Given the description of an element on the screen output the (x, y) to click on. 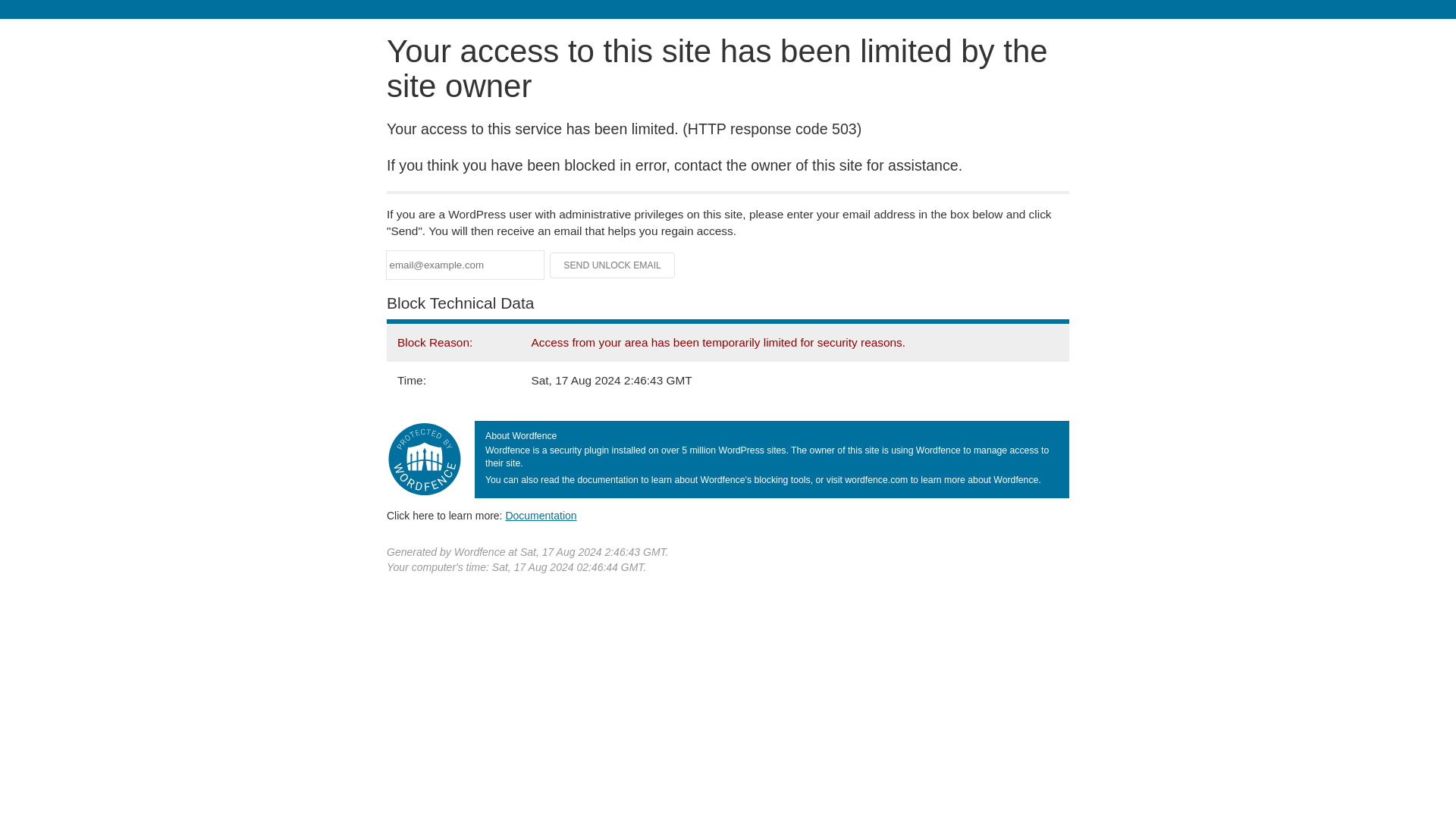
Documentation (540, 515)
Send Unlock Email (612, 265)
Send Unlock Email (612, 265)
